Given the description of an element on the screen output the (x, y) to click on. 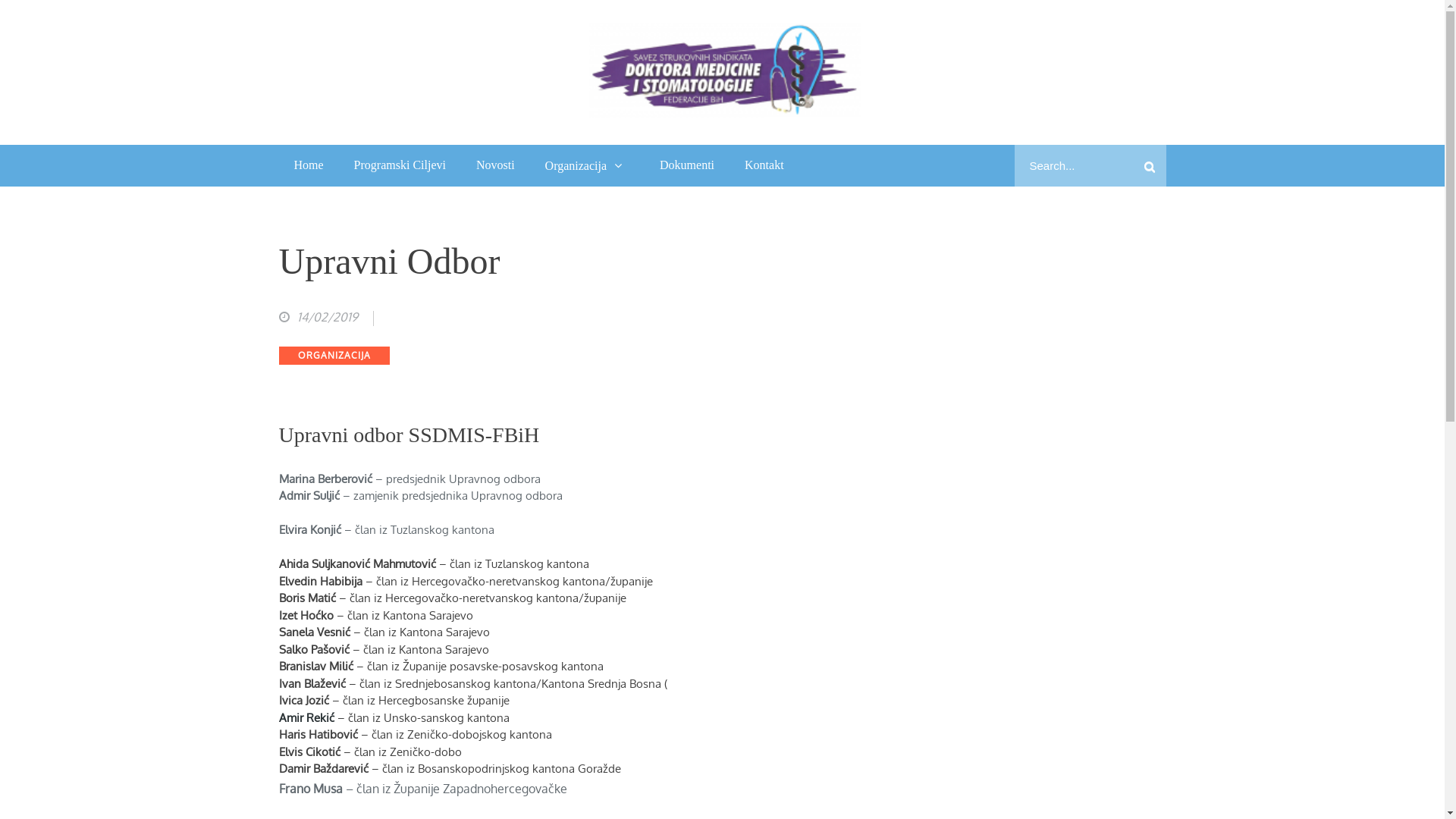
Search Element type: text (1149, 164)
Novosti Element type: text (495, 164)
Home Element type: text (308, 164)
Programski Ciljevi Element type: text (399, 164)
Dokumenti Element type: text (686, 164)
14/02/2019 Element type: text (318, 316)
Skip to content Element type: text (0, 0)
ORGANIZACIJA Element type: text (334, 355)
Organizacija Element type: text (587, 165)
Kontakt Element type: text (764, 164)
